Given the description of an element on the screen output the (x, y) to click on. 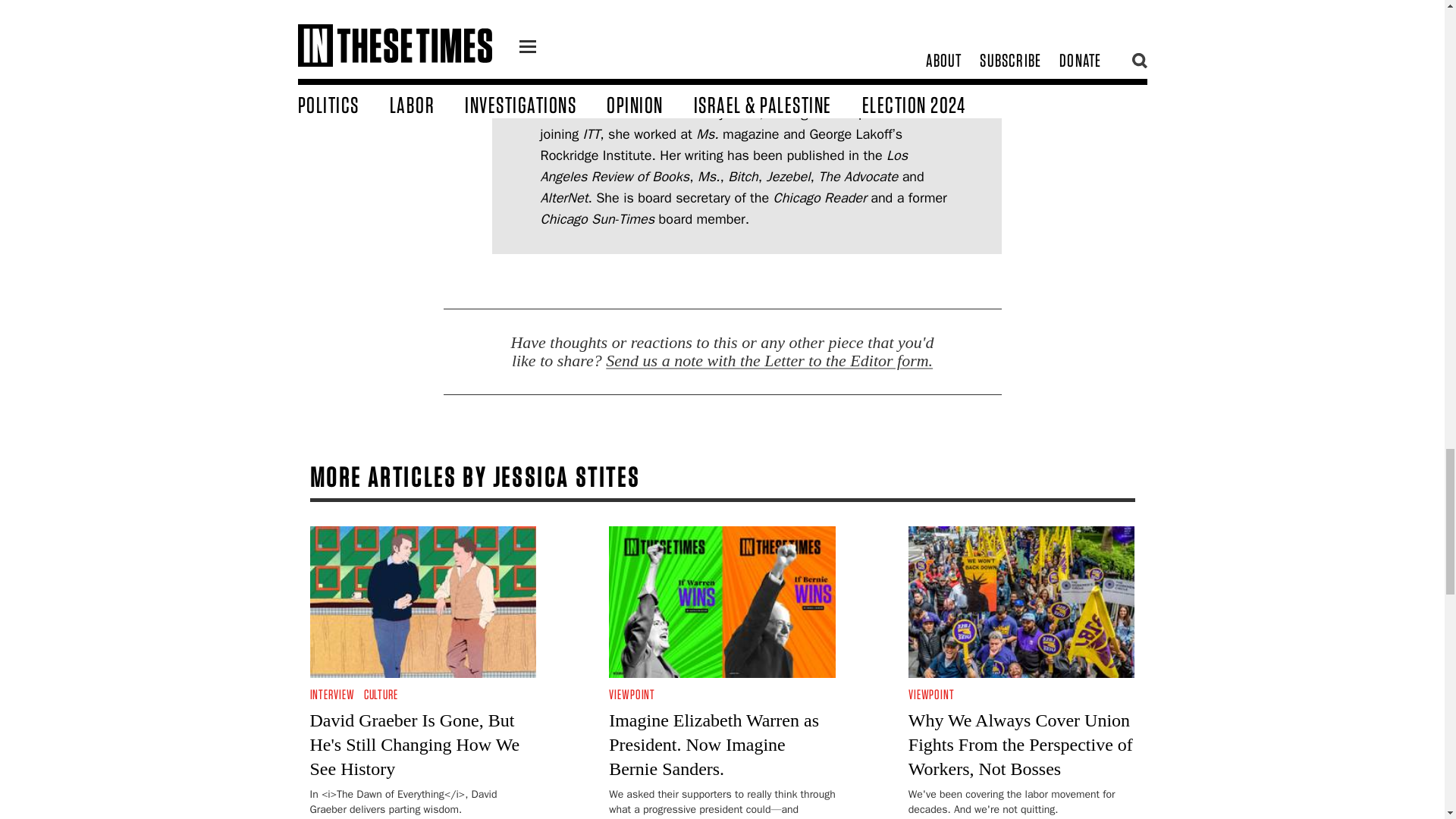
Ms. magazine (736, 134)
Leonard C. Goodman Institute for Investigative Reporting (762, 70)
JESSICA STITES (585, 44)
